Given the description of an element on the screen output the (x, y) to click on. 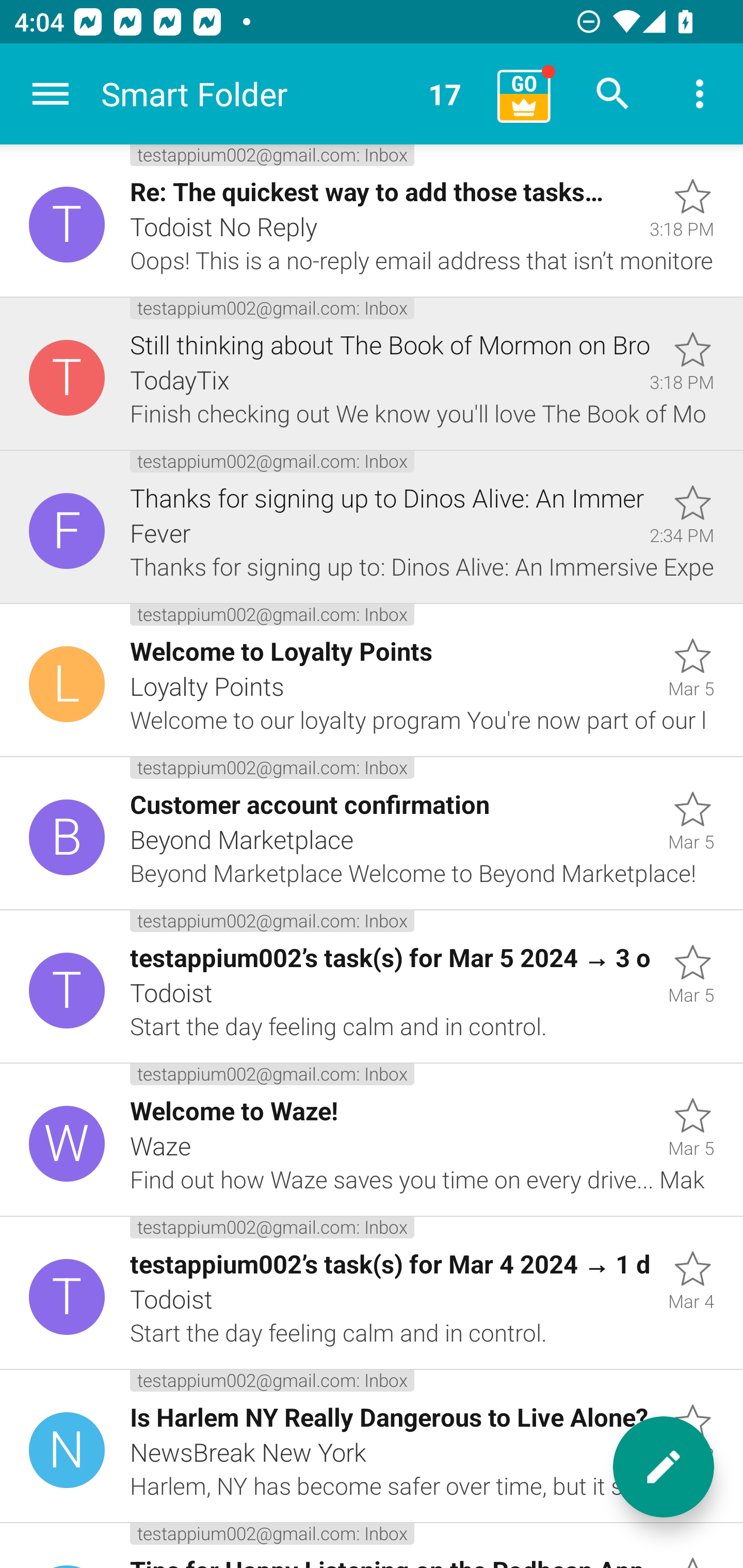
Navigate up (50, 93)
Smart Folder 17 (291, 93)
Search (612, 93)
More options (699, 93)
New message (663, 1466)
